Given the description of an element on the screen output the (x, y) to click on. 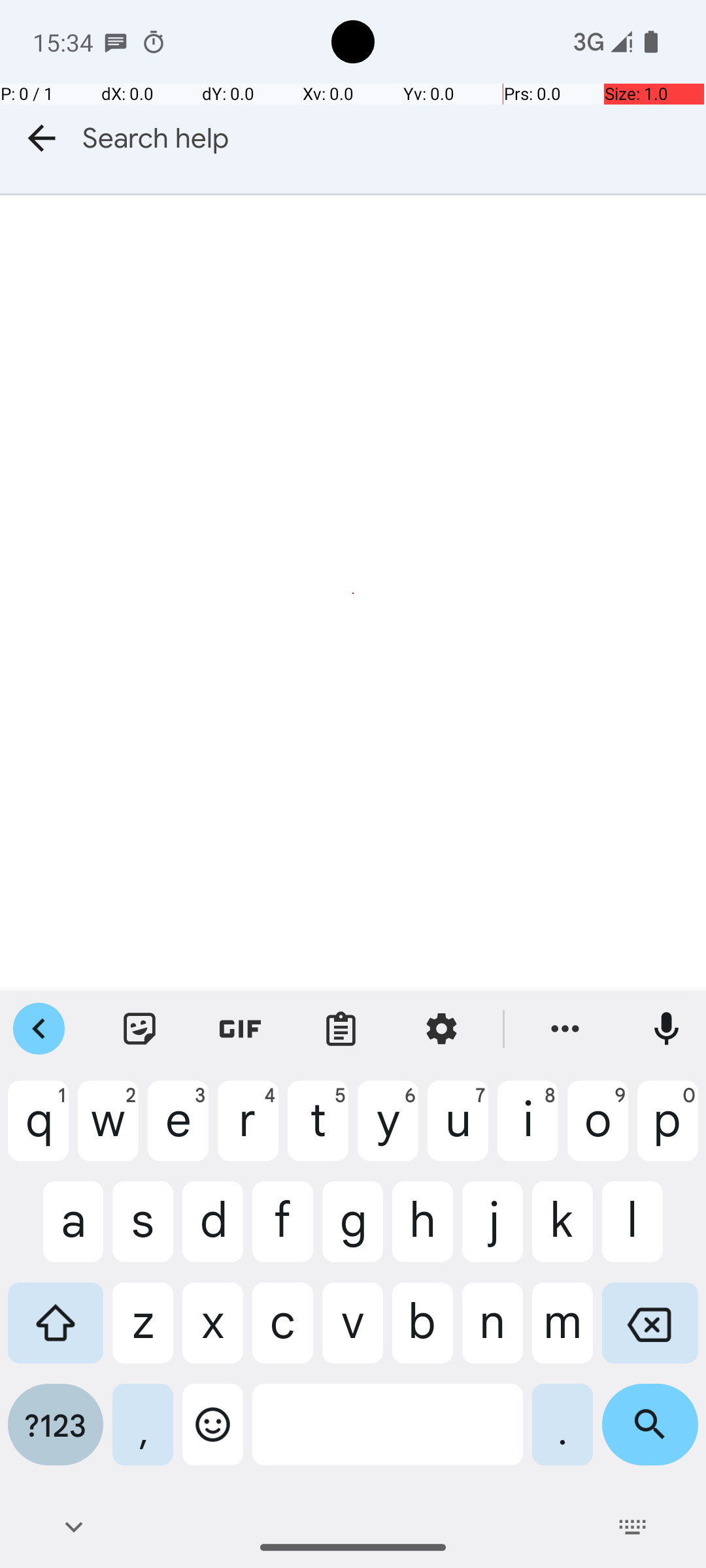
Search help Element type: android.widget.EditText (394, 138)
